Given the description of an element on the screen output the (x, y) to click on. 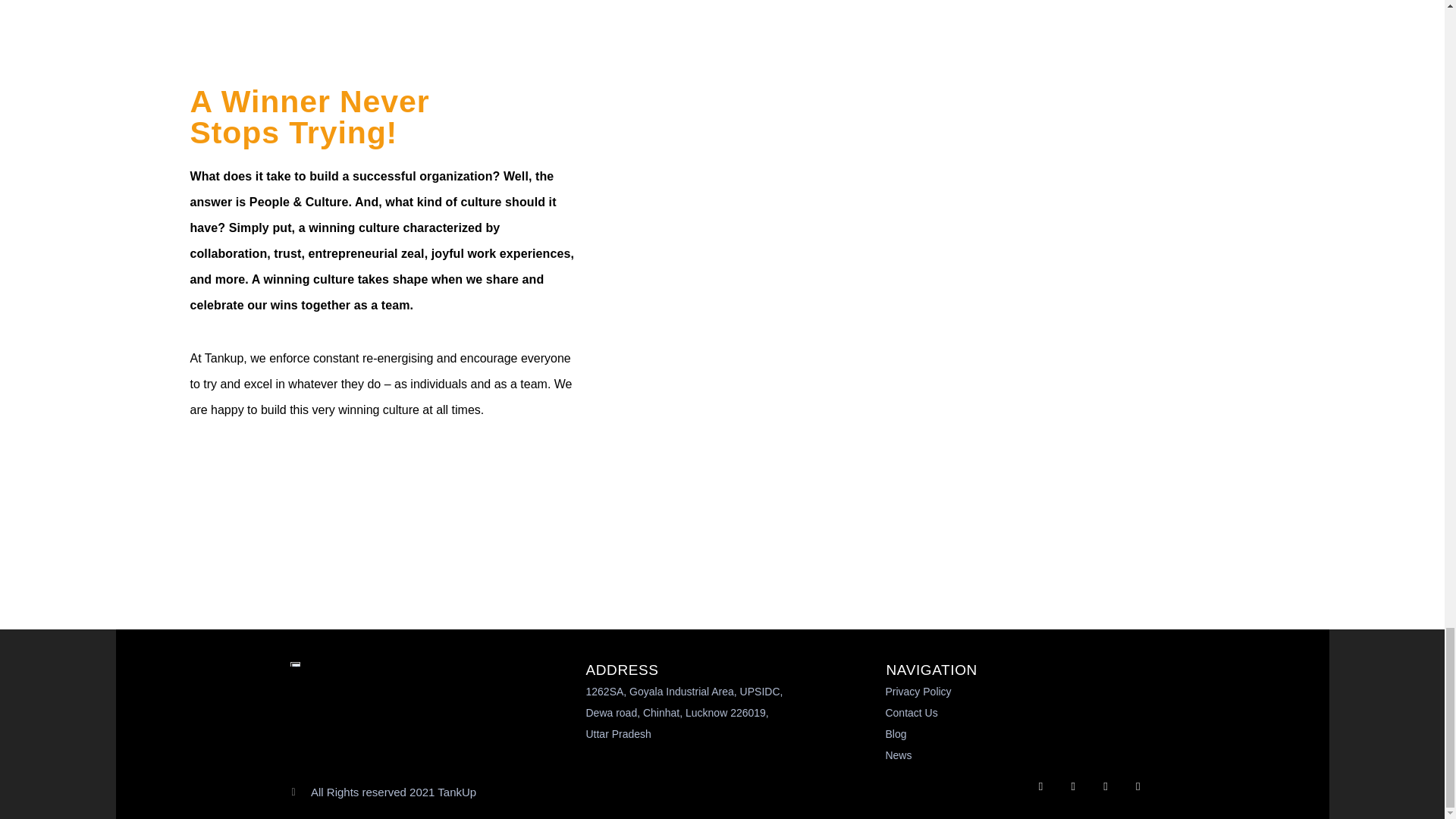
Contact Us (1016, 712)
Blog (1016, 733)
News (1016, 754)
Privacy Policy (1016, 690)
